Given the description of an element on the screen output the (x, y) to click on. 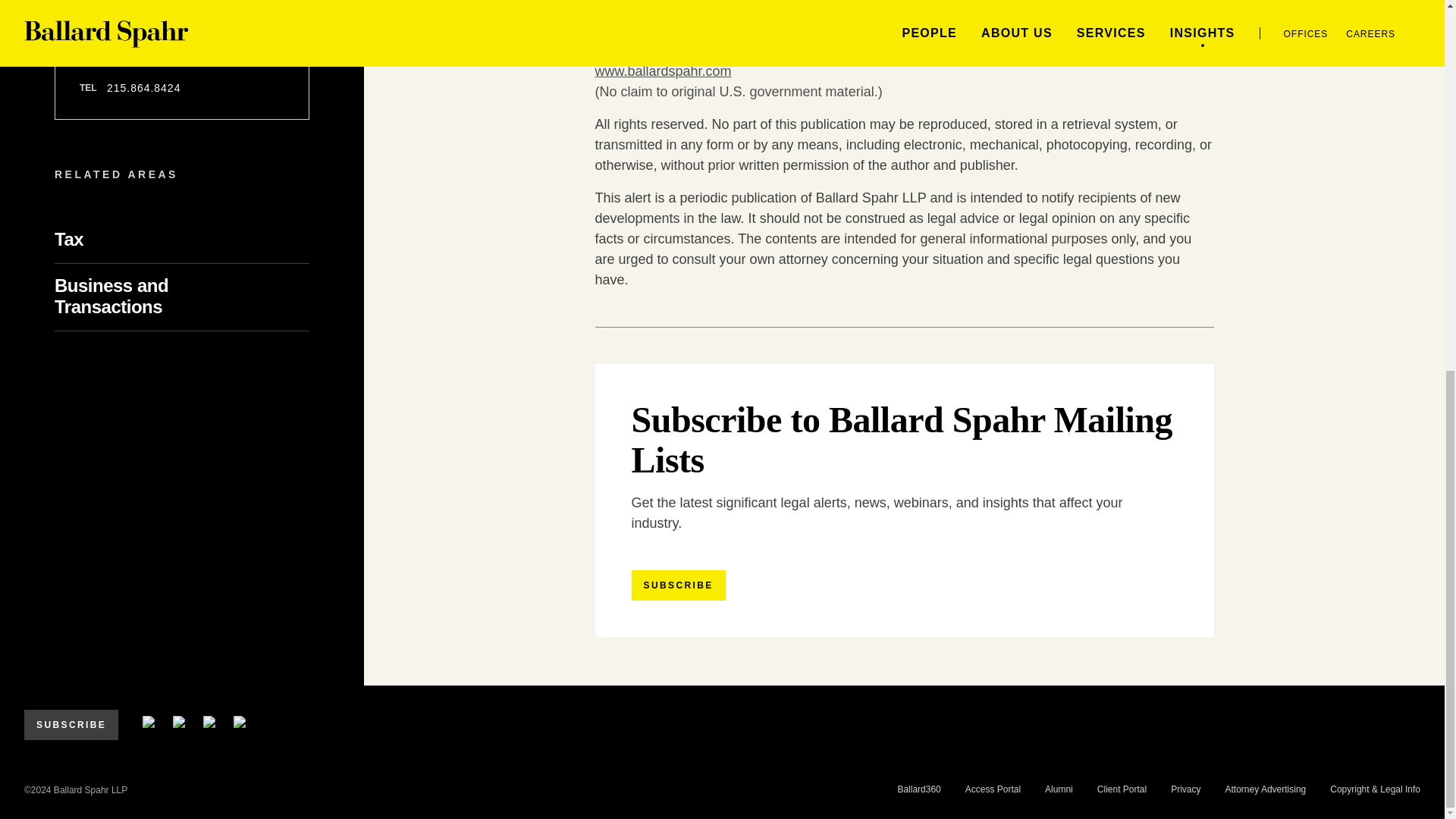
Tax (94, 239)
Ballard360 (918, 788)
Alumni (1059, 788)
Client Portal (1122, 788)
Business and Transactions (133, 295)
Attorney Advertising (1265, 788)
www.ballardspahr.com (662, 70)
Access Portal (992, 788)
SUBSCRIBE (70, 725)
SUBSCRIBE (677, 585)
